Given the description of an element on the screen output the (x, y) to click on. 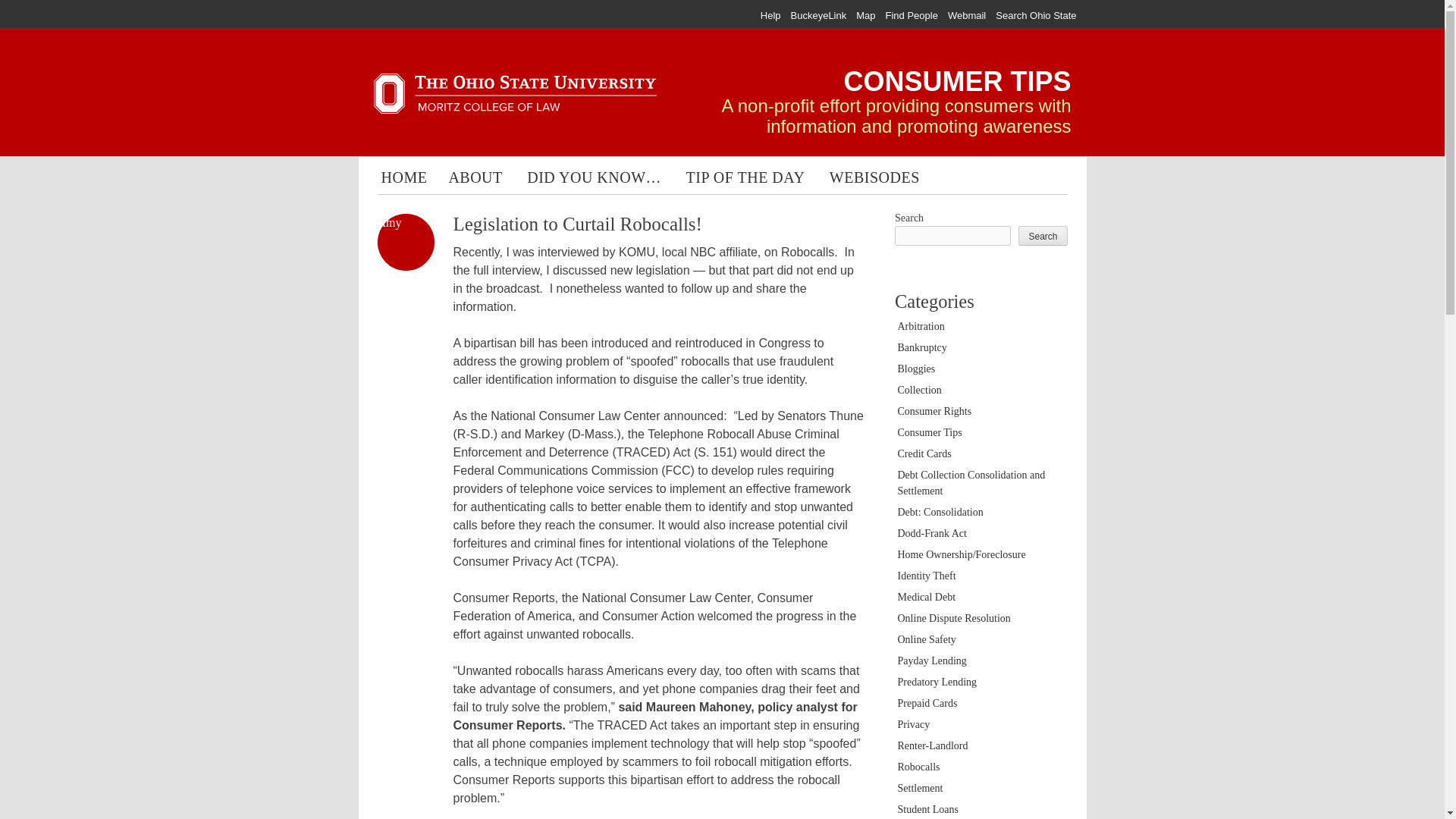
Webmail (966, 15)
Search (1042, 235)
Map (865, 15)
HOME (403, 179)
The Ohio State University (402, 15)
Bloggies (917, 368)
Consumer Tips (930, 432)
Find People (911, 15)
Search Ohio State (1035, 15)
Bankruptcy (922, 347)
